Given the description of an element on the screen output the (x, y) to click on. 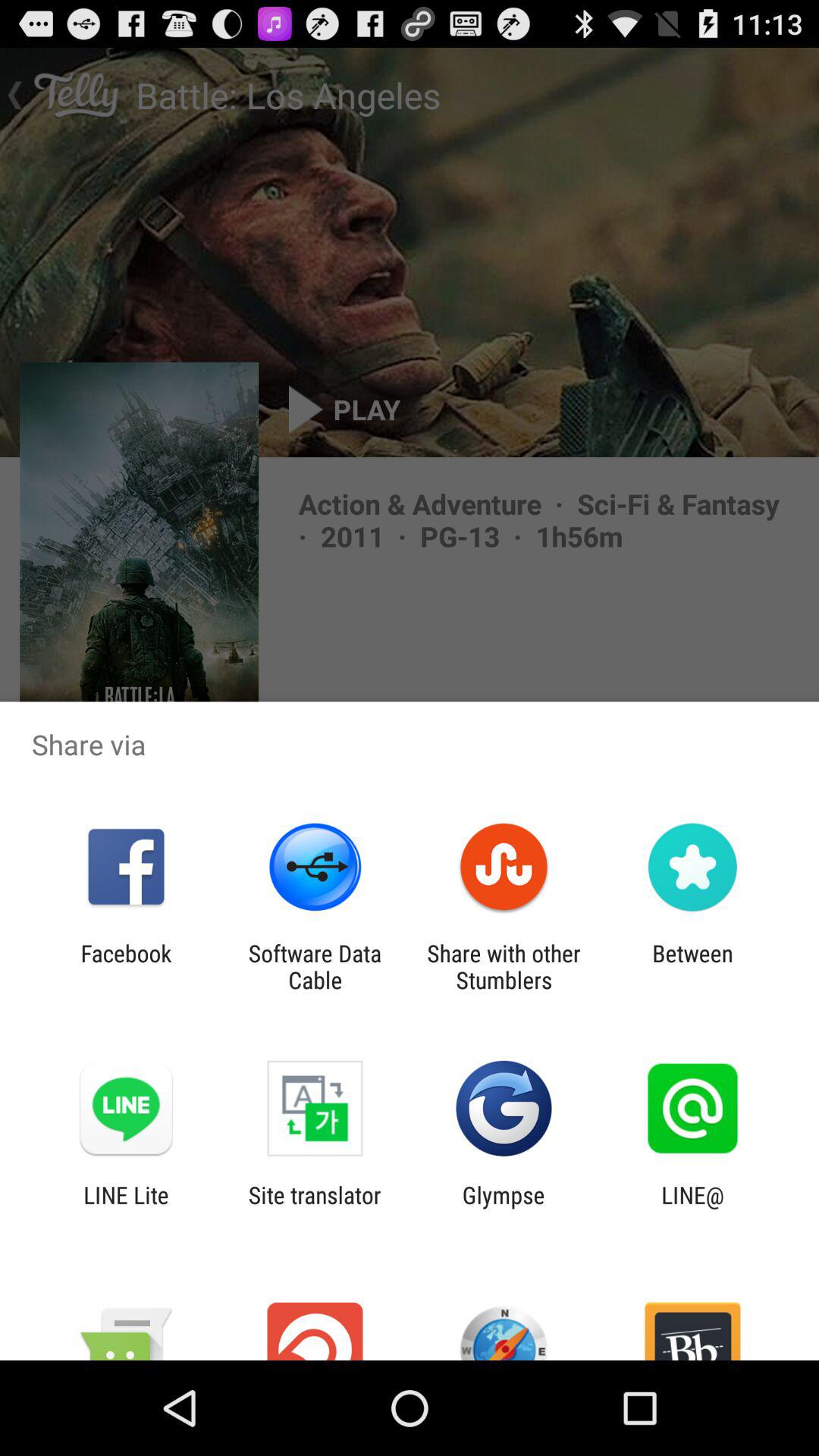
turn off item next to share with other (314, 966)
